Given the description of an element on the screen output the (x, y) to click on. 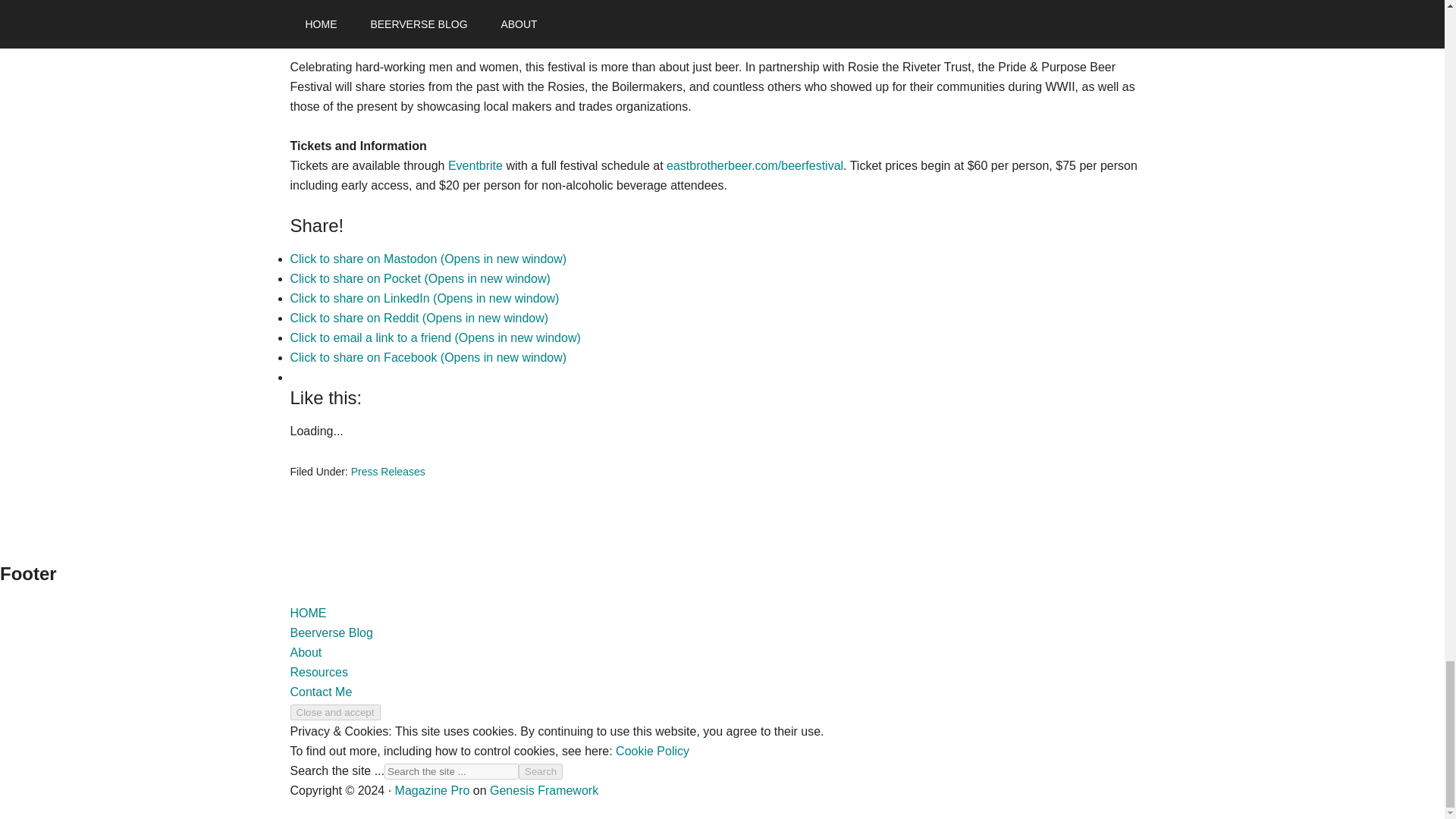
Search (540, 771)
Search (540, 771)
Eventbrite (475, 164)
Click to share on LinkedIn (424, 297)
Click to share on Pocket (419, 278)
Click to share on Reddit (418, 318)
Click to share on Mastodon (427, 258)
Click to share on Facebook (427, 357)
Click to email a link to a friend (434, 337)
Close and accept (334, 712)
